Given the description of an element on the screen output the (x, y) to click on. 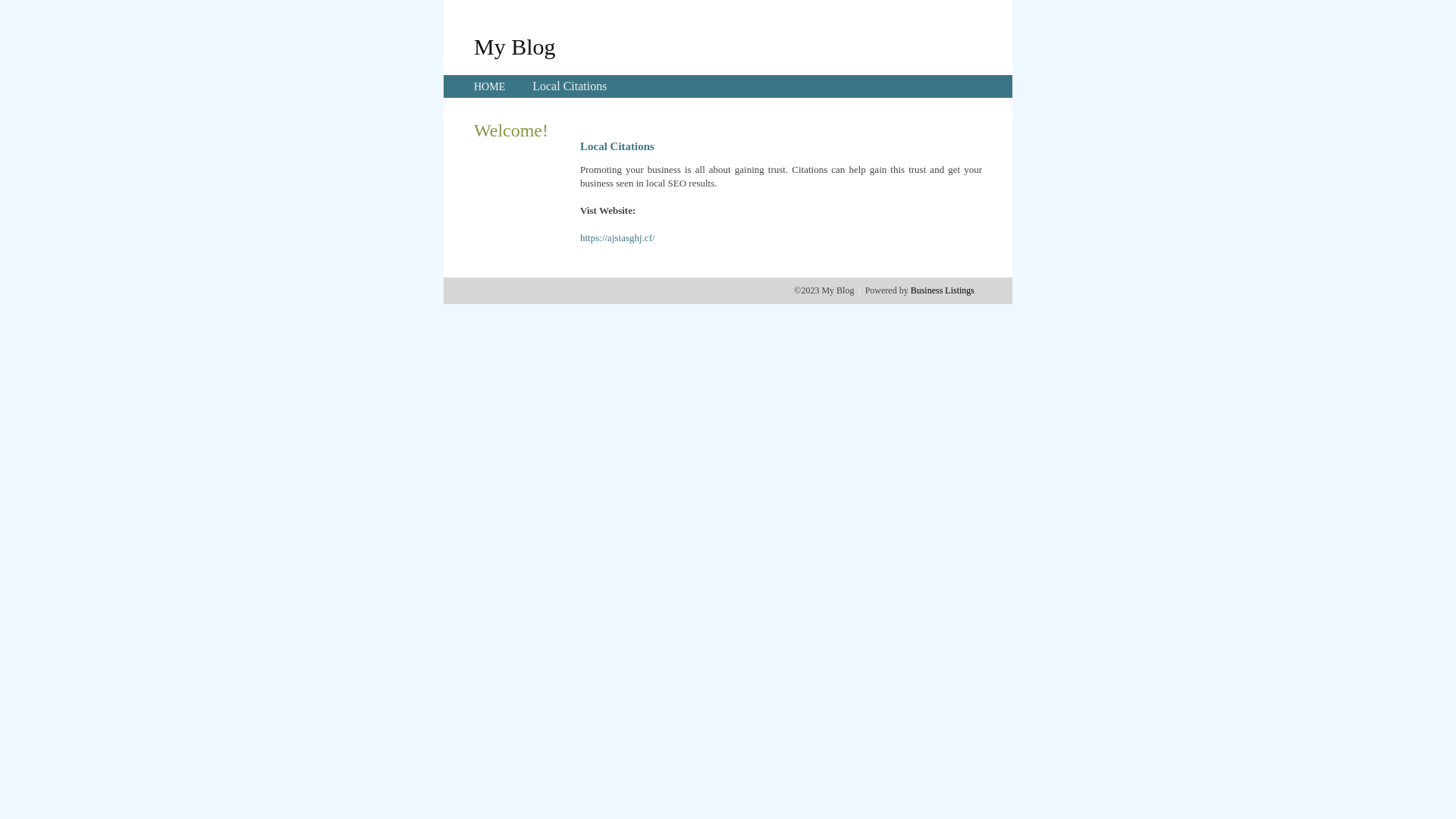
HOME Element type: text (489, 86)
My Blog Element type: text (514, 46)
Business Listings Element type: text (942, 290)
https://ajsiasghj.cf/ Element type: text (617, 237)
Local Citations Element type: text (569, 85)
